Given the description of an element on the screen output the (x, y) to click on. 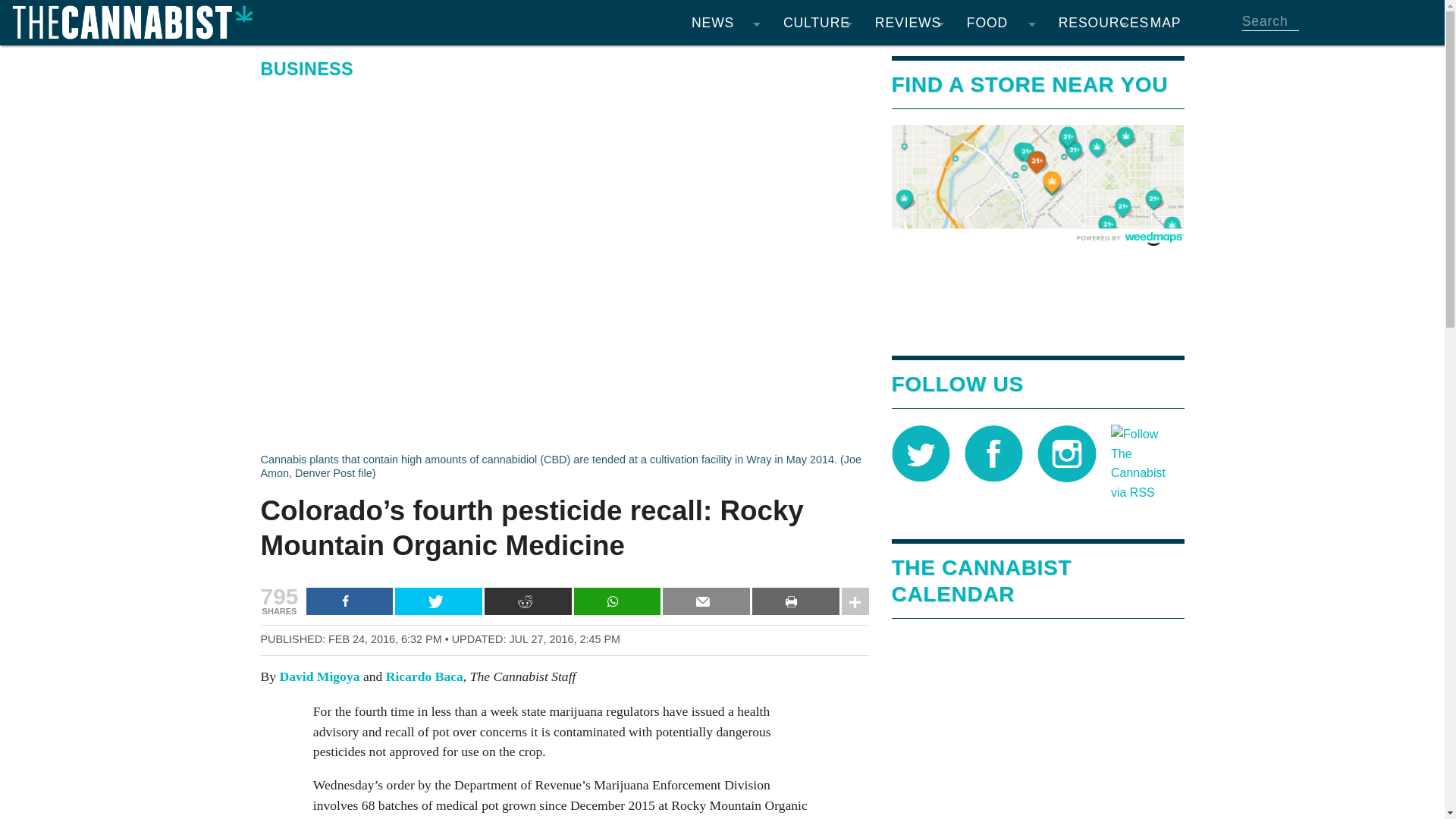
2016 (633, 272)
Follow The Cannabist on Twitter (920, 452)
NEWS (725, 22)
POT AND PARENTING (817, 212)
STYLE (817, 151)
US CULTURE (817, 242)
THE DENVER POST (725, 303)
WORLD CULTURE (817, 272)
GONE HEMP (909, 121)
POLITICS (725, 182)
View all posts in Business (306, 68)
STRAIN REVIEWS (909, 60)
SPORTS (817, 121)
THE CANNABIST SHOW (817, 333)
CULTURE (817, 22)
